Given the description of an element on the screen output the (x, y) to click on. 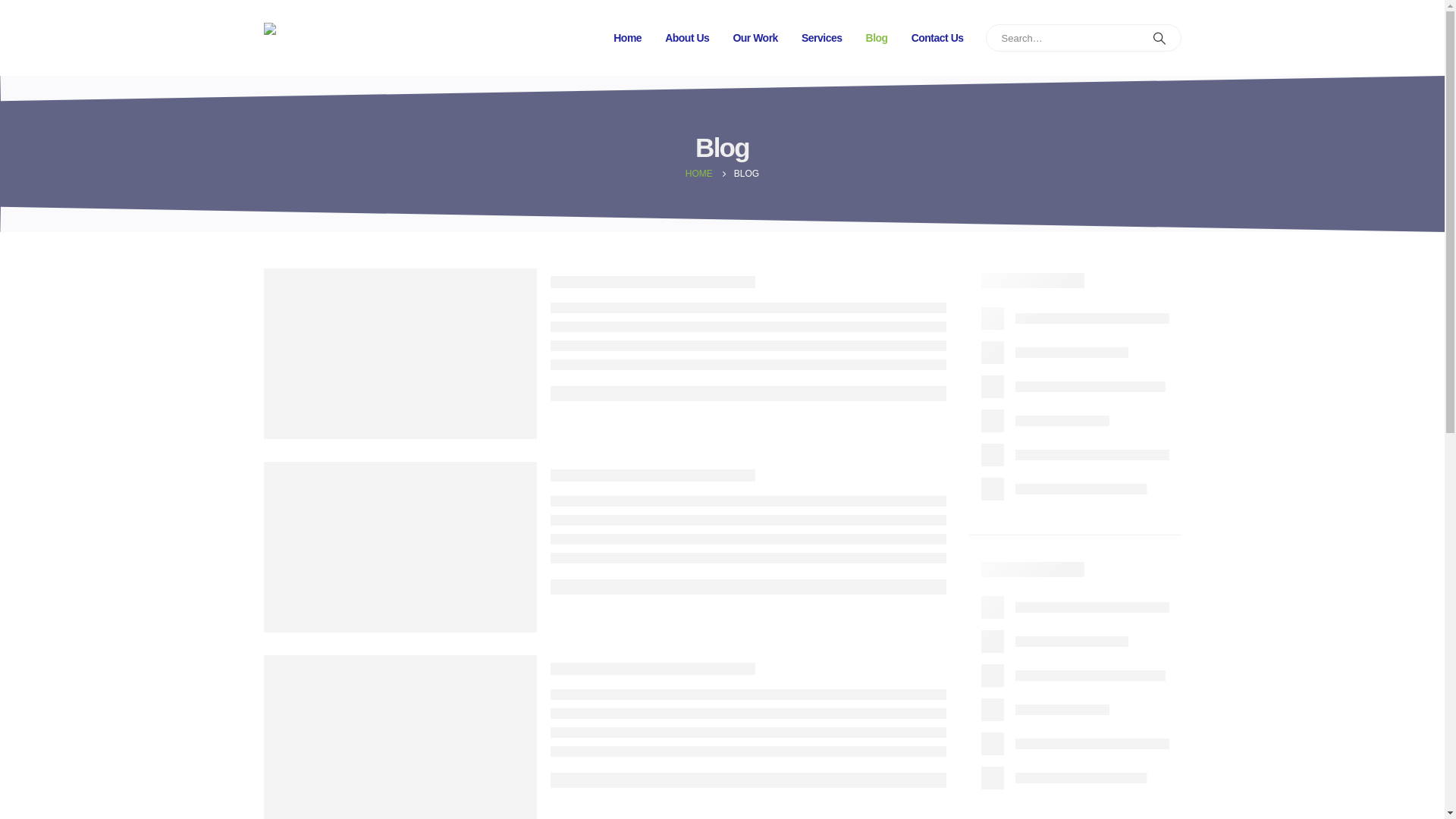
Home Element type: text (627, 37)
Our Work Element type: text (755, 37)
Majestic Pools - Most Awarded Brisbane Pool Builders Element type: hover (310, 37)
Blog Element type: text (876, 37)
Services Element type: text (821, 37)
About Us Element type: text (686, 37)
HOME Element type: text (698, 173)
Contact Us Element type: text (937, 37)
Search Element type: hover (1159, 37)
